Given the description of an element on the screen output the (x, y) to click on. 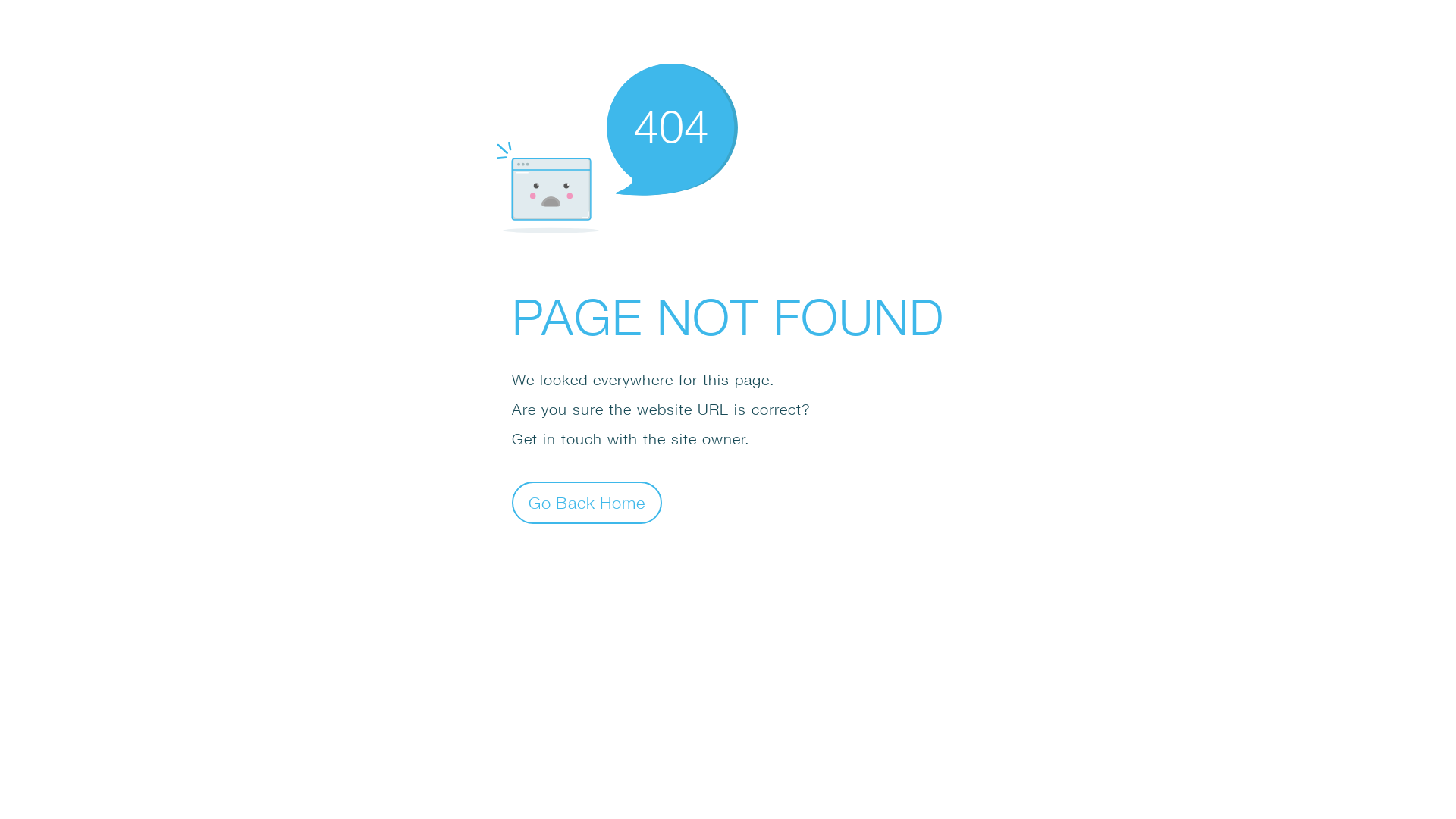
Go Back Home Element type: text (586, 502)
